Given the description of an element on the screen output the (x, y) to click on. 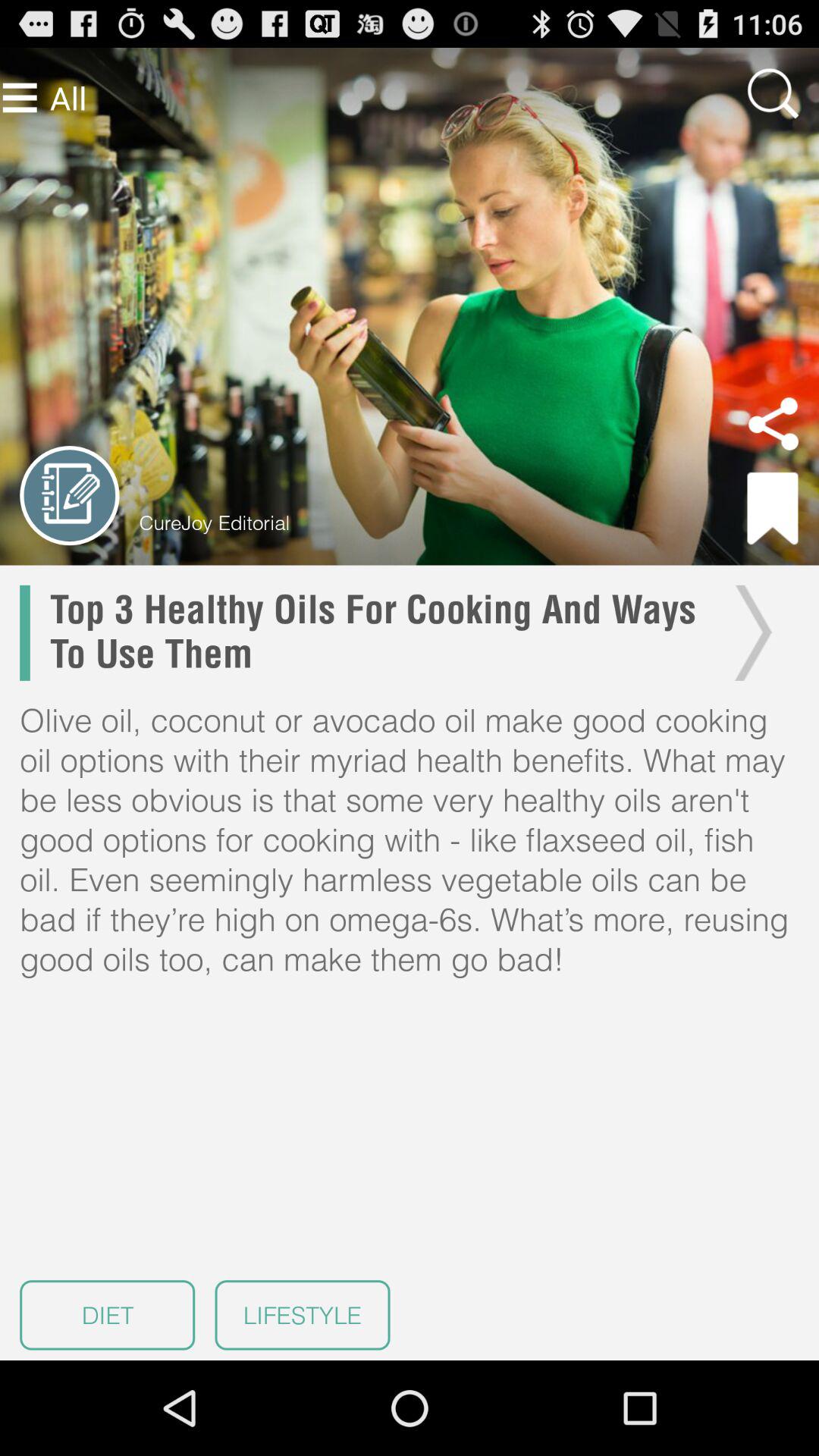
turn on item next to lifestyle icon (107, 1315)
